Given the description of an element on the screen output the (x, y) to click on. 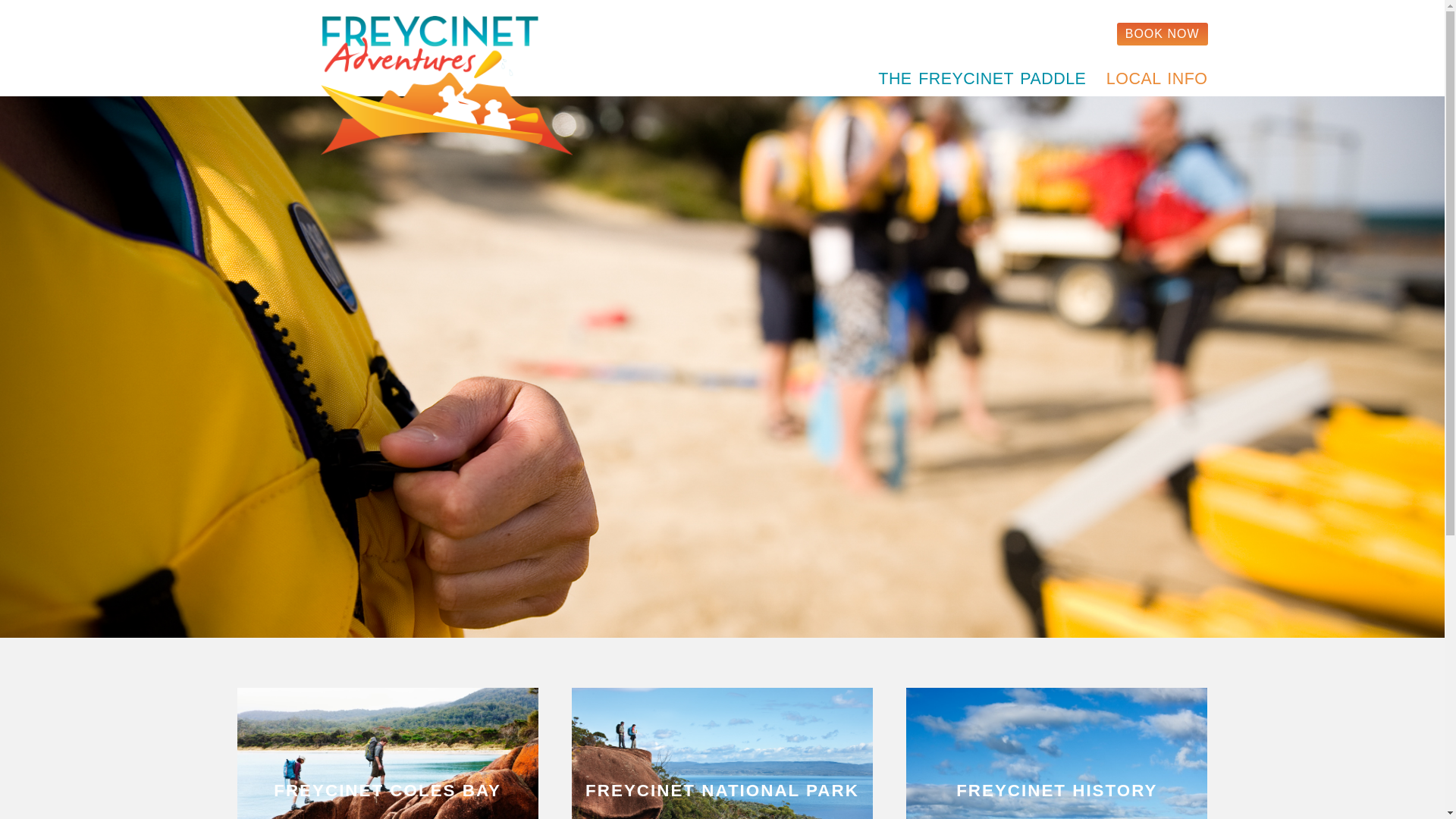
BOOK NOW Element type: text (1162, 33)
THE FREYCINET PADDLE Element type: text (978, 79)
LOCAL INFO Element type: text (1153, 79)
